Given the description of an element on the screen output the (x, y) to click on. 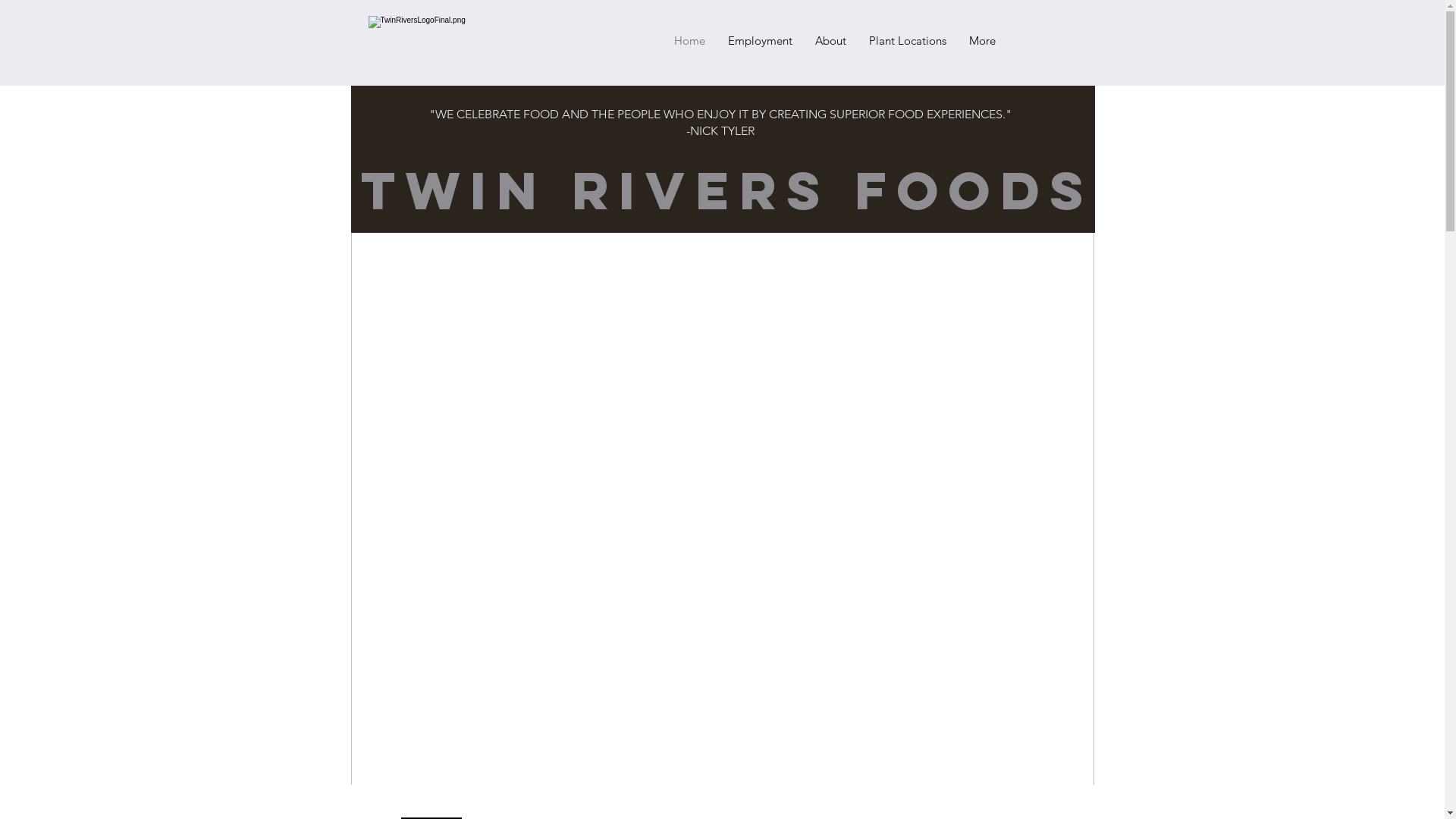
About Element type: text (830, 40)
Plant Locations Element type: text (906, 40)
Home Element type: text (689, 40)
Employment Element type: text (759, 40)
